Given the description of an element on the screen output the (x, y) to click on. 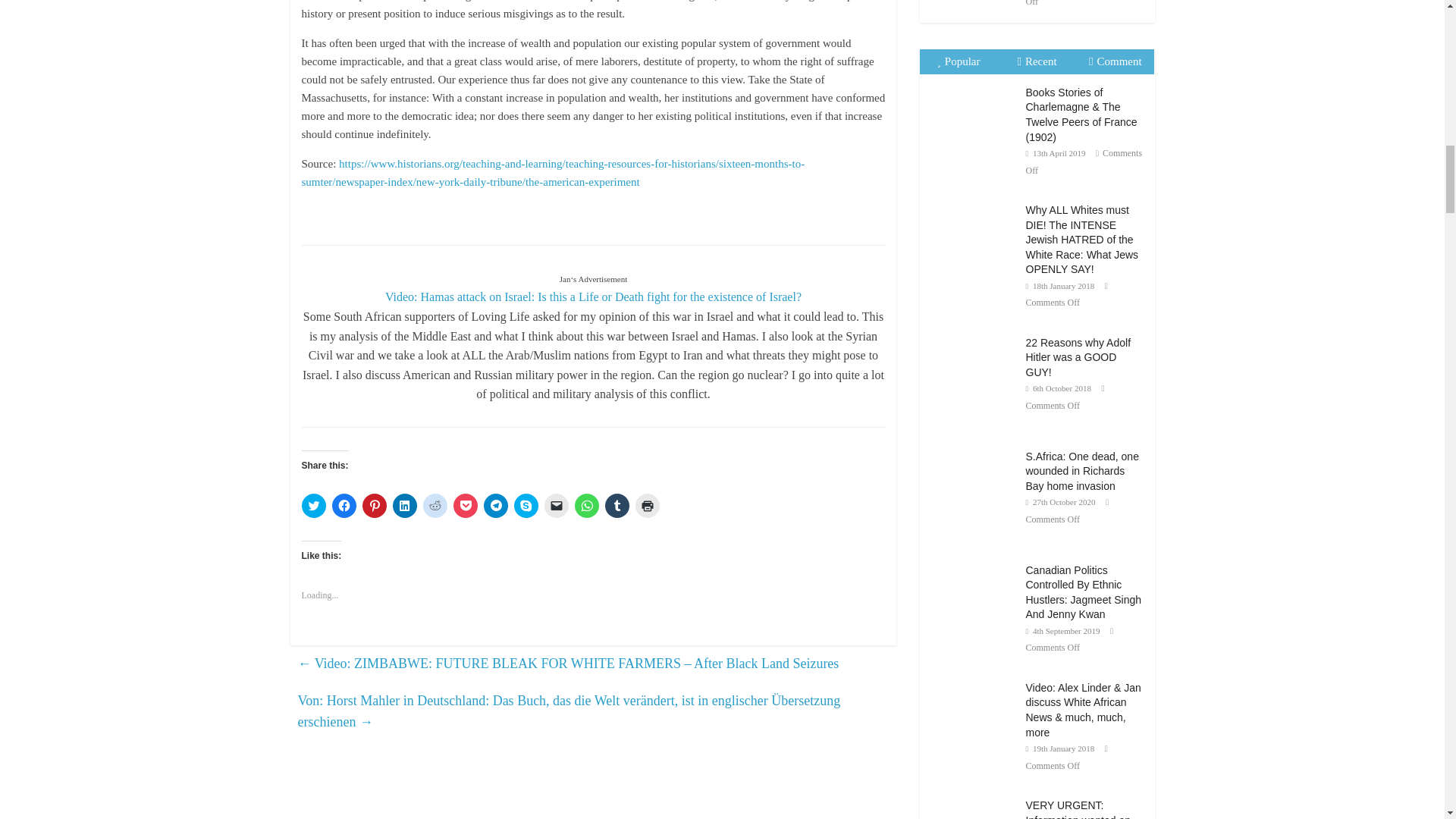
Click to share on Reddit (434, 505)
Click to share on Telegram (495, 505)
Click to share on Facebook (343, 505)
Click to share on Pocket (464, 505)
Click to share on Pinterest (374, 505)
Click to share on LinkedIn (404, 505)
Click to share on Twitter (313, 505)
